Given the description of an element on the screen output the (x, y) to click on. 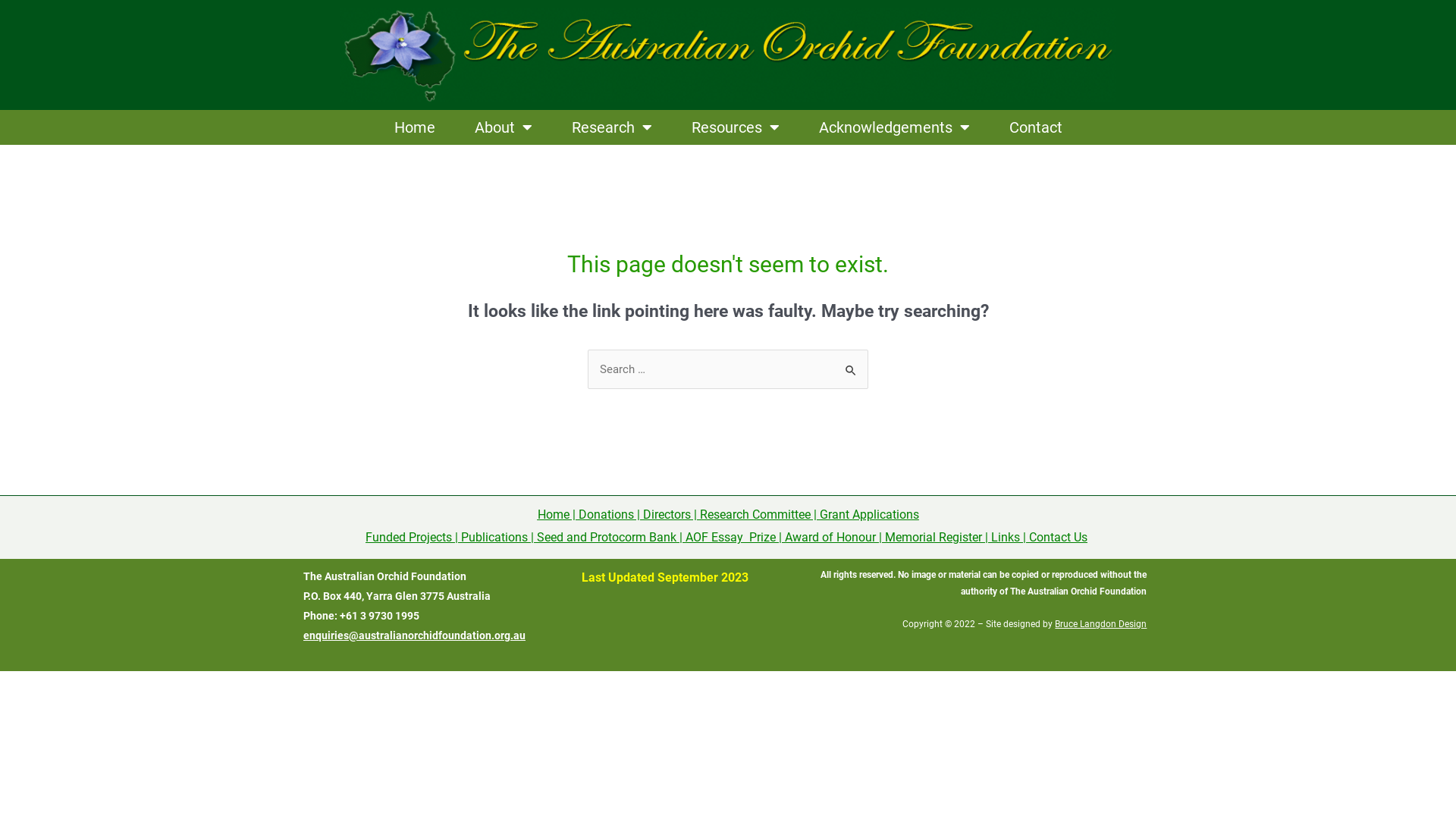
Award of Honour Element type: text (829, 537)
Memorial Register Element type: text (933, 537)
Directors Element type: text (666, 514)
Research Element type: text (611, 126)
Acknowledgements Element type: text (894, 126)
Donations Element type: text (605, 514)
About Element type: text (503, 126)
Bruce Langdon Design Element type: text (1100, 623)
Research Committee Element type: text (754, 514)
Home Element type: text (414, 126)
AOF Essay  Prize Element type: text (730, 537)
enquiries@australianorchidfoundation.org.au Element type: text (414, 635)
Resources Element type: text (735, 126)
Publications Element type: text (494, 537)
Contact Us Element type: text (1058, 537)
Grant Applications Element type: text (868, 514)
Seed and Protocorm Bank Element type: text (606, 537)
Funded Projects Element type: text (408, 537)
Links Element type: text (1005, 537)
Contact Element type: text (1034, 126)
Search Element type: text (851, 364)
Home Element type: text (552, 514)
